Given the description of an element on the screen output the (x, y) to click on. 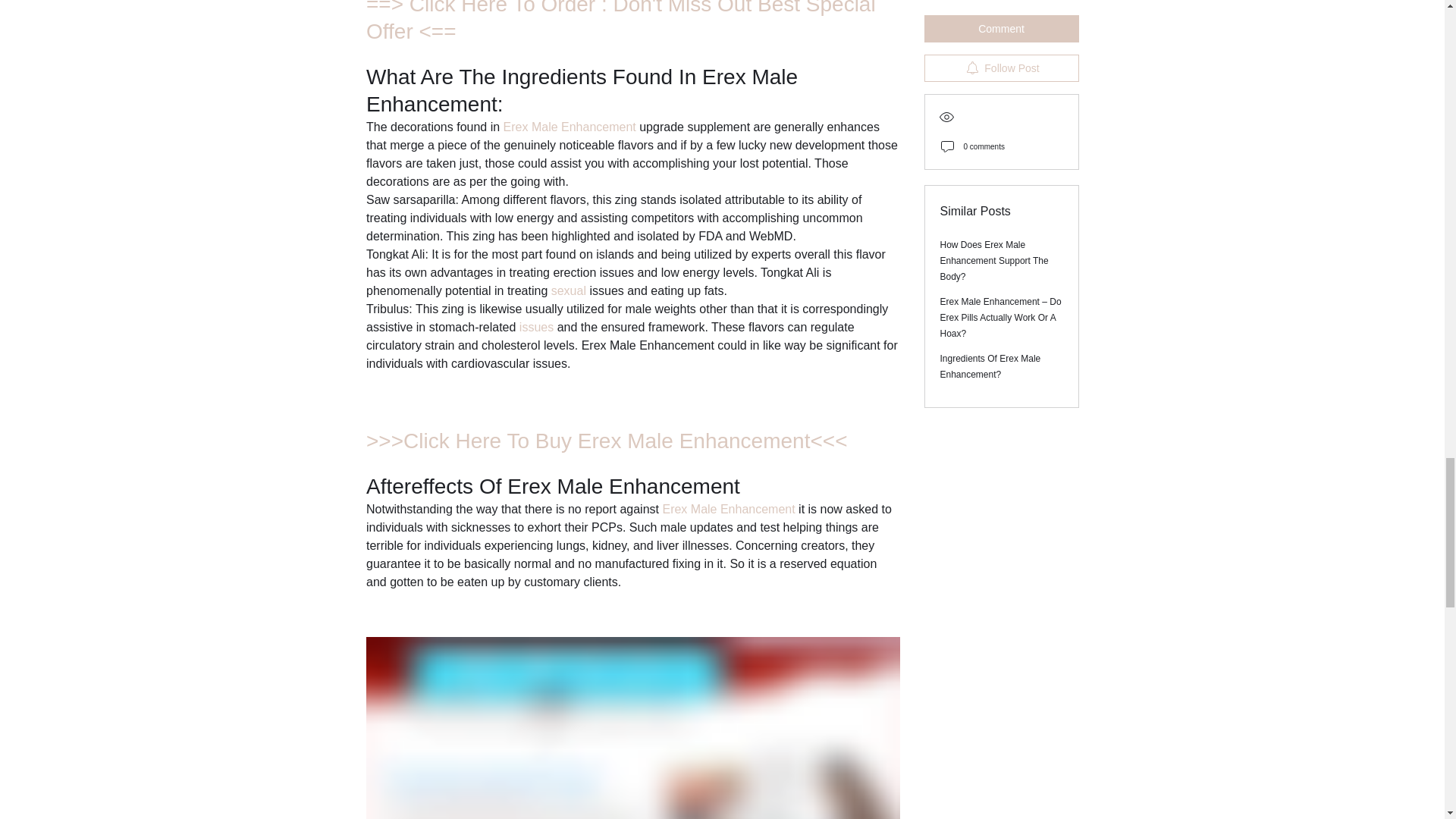
Erex Male Enhancement (728, 508)
Erex Male Enhancement (568, 126)
issues  (537, 327)
sexual  (569, 290)
